Given the description of an element on the screen output the (x, y) to click on. 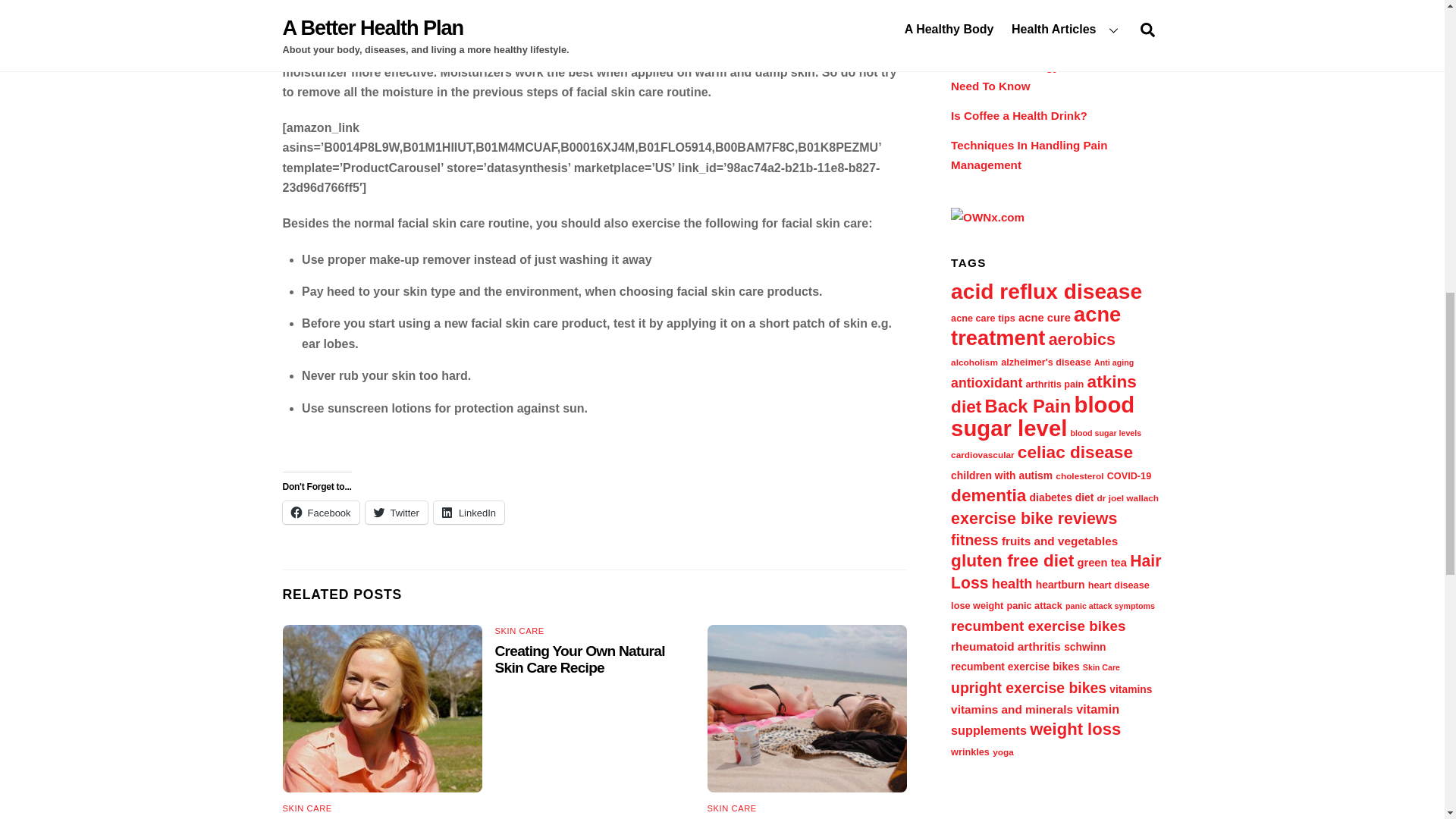
LinkedIn (468, 512)
tanning (807, 708)
Creating Your Own Natural Skin Care Recipe (580, 658)
Click to share on Twitter (396, 512)
SKIN CARE (732, 808)
SKIN CARE (519, 630)
Click to share on LinkedIn (468, 512)
SKIN CARE (306, 808)
Click to share on Facebook (320, 512)
Facebook (320, 512)
Twitter (396, 512)
woman3 (381, 708)
